Given the description of an element on the screen output the (x, y) to click on. 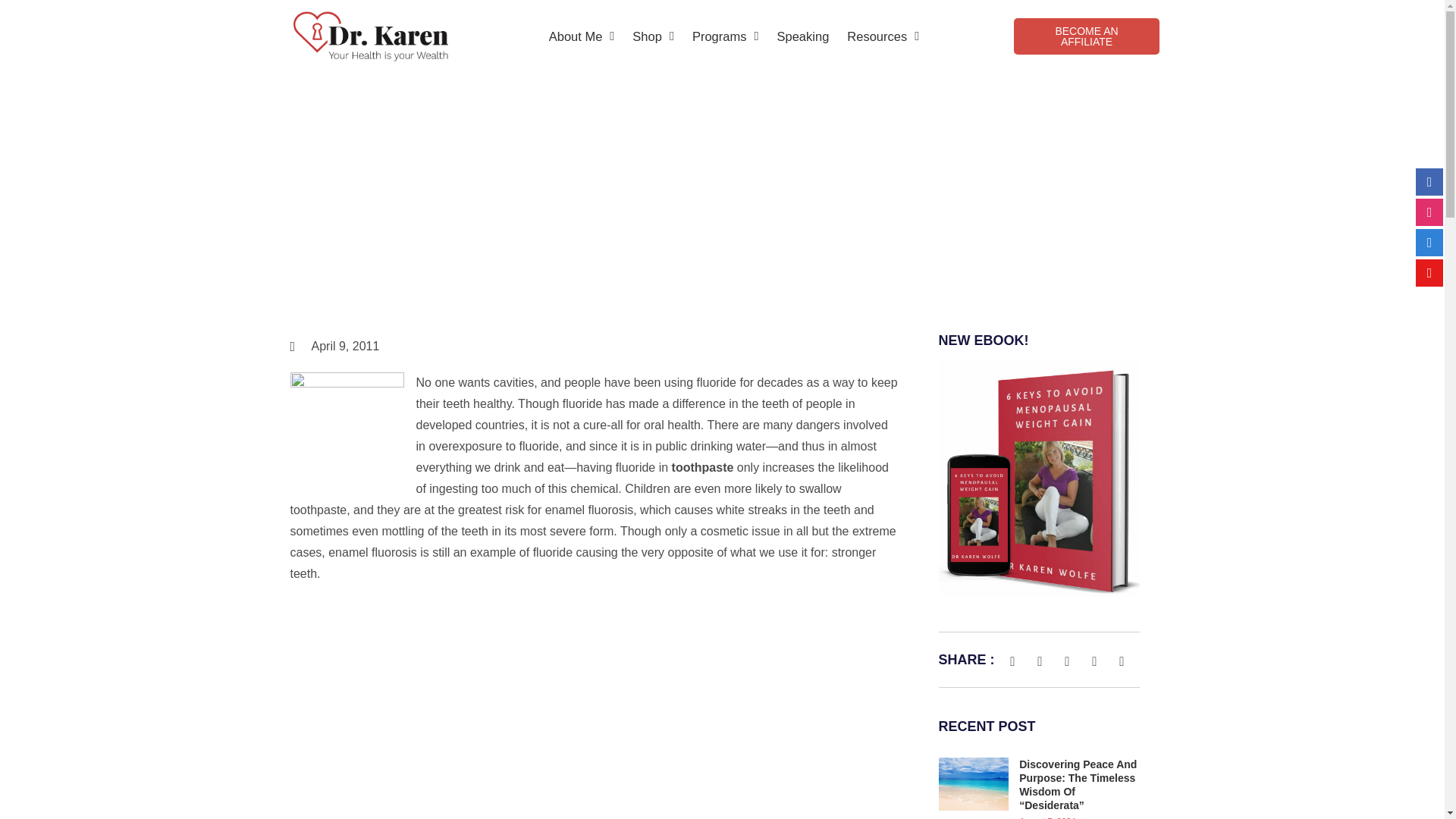
ToothpasteWarning-150x150 (346, 429)
Resources (883, 36)
Programs (725, 36)
About Me (582, 36)
Speaking (802, 36)
Shop (652, 36)
